Given the description of an element on the screen output the (x, y) to click on. 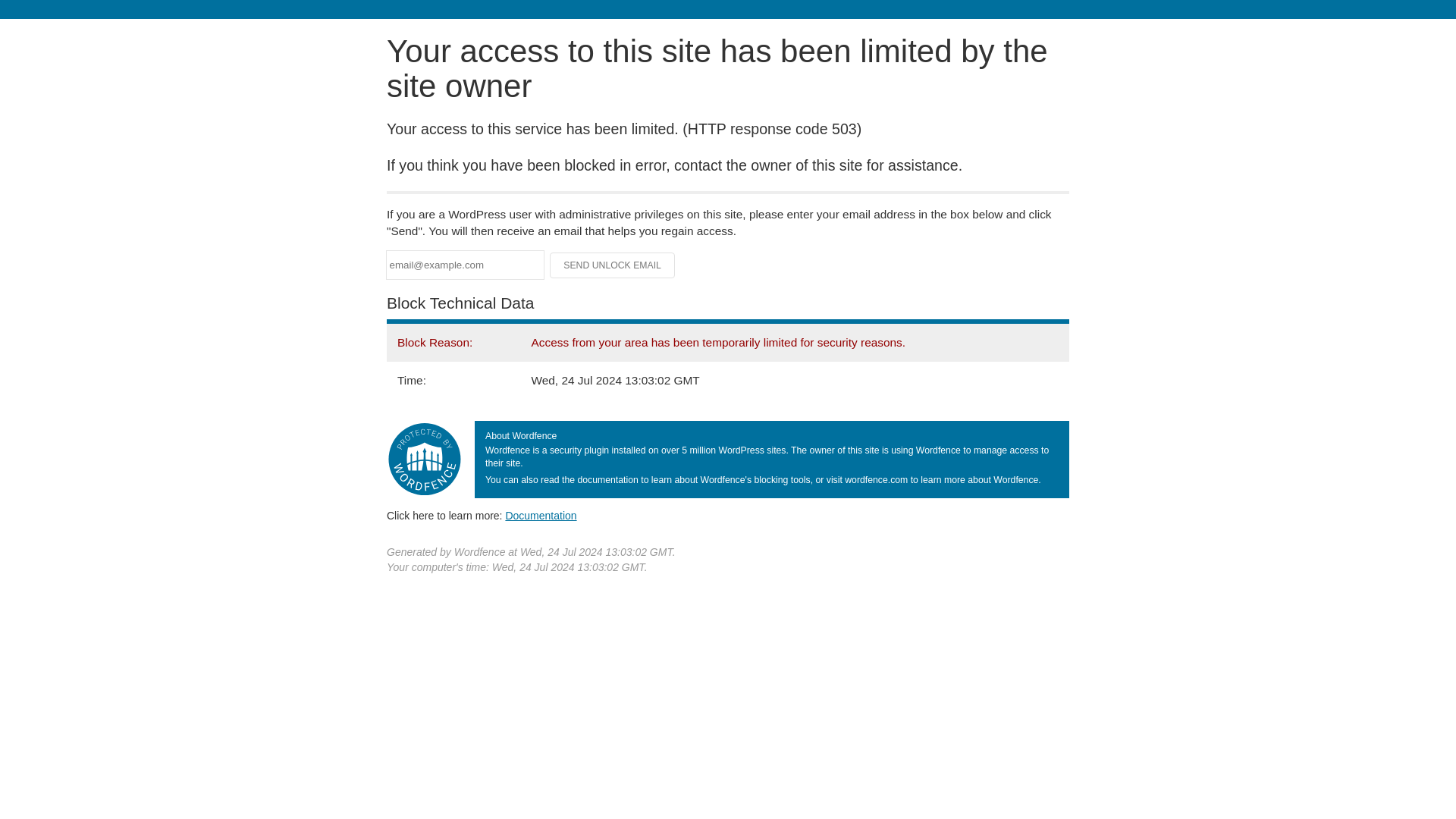
Send Unlock Email (612, 265)
Send Unlock Email (612, 265)
Documentation (540, 515)
